Given the description of an element on the screen output the (x, y) to click on. 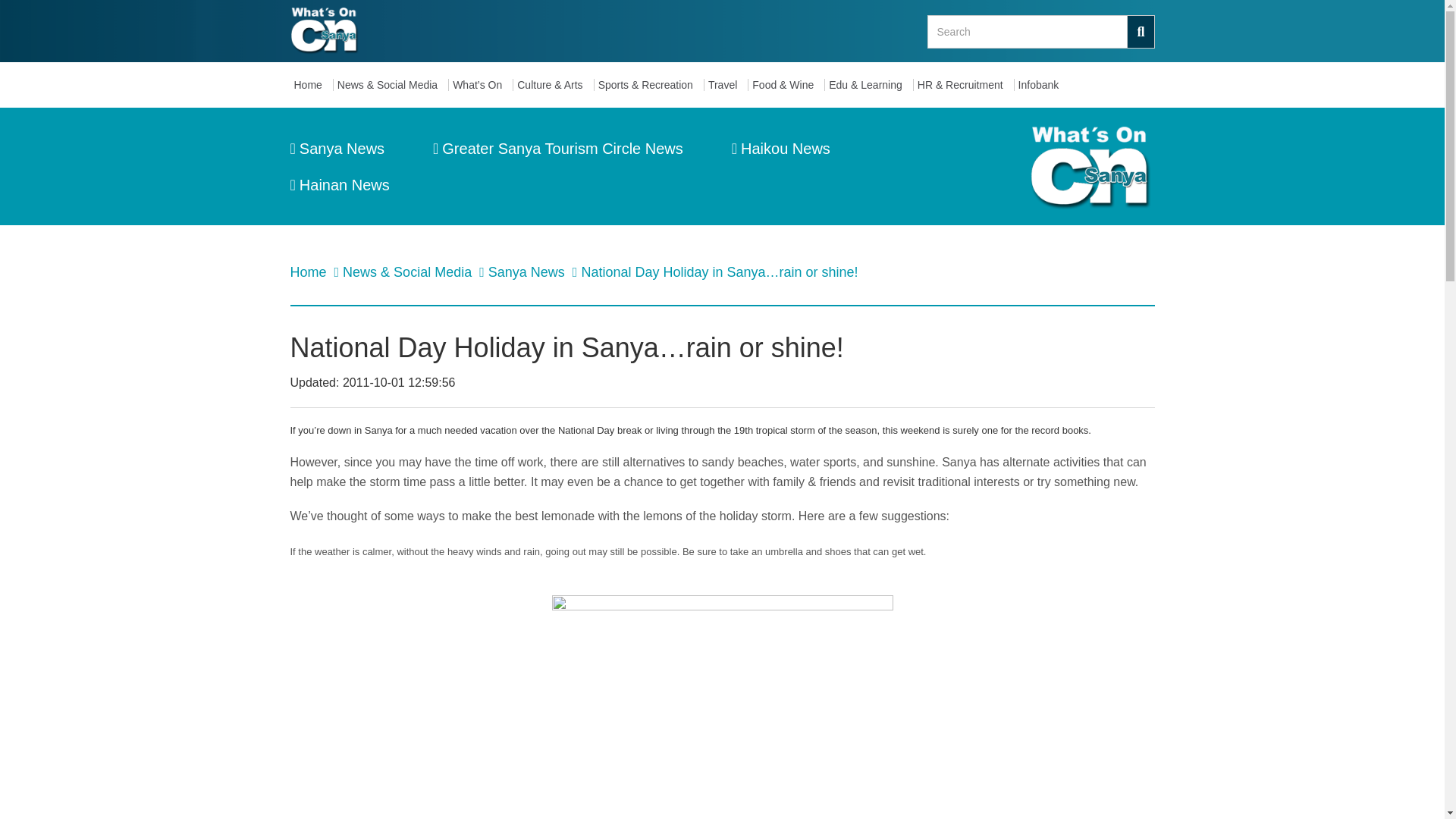
Sanya News (336, 148)
Greater Sanya Tourism Circle News (557, 148)
Travel (726, 84)
Infobank (1042, 84)
Home (309, 272)
Haikou News (780, 148)
Hainan News (338, 184)
Sanya News (528, 272)
Home (311, 84)
